Given the description of an element on the screen output the (x, y) to click on. 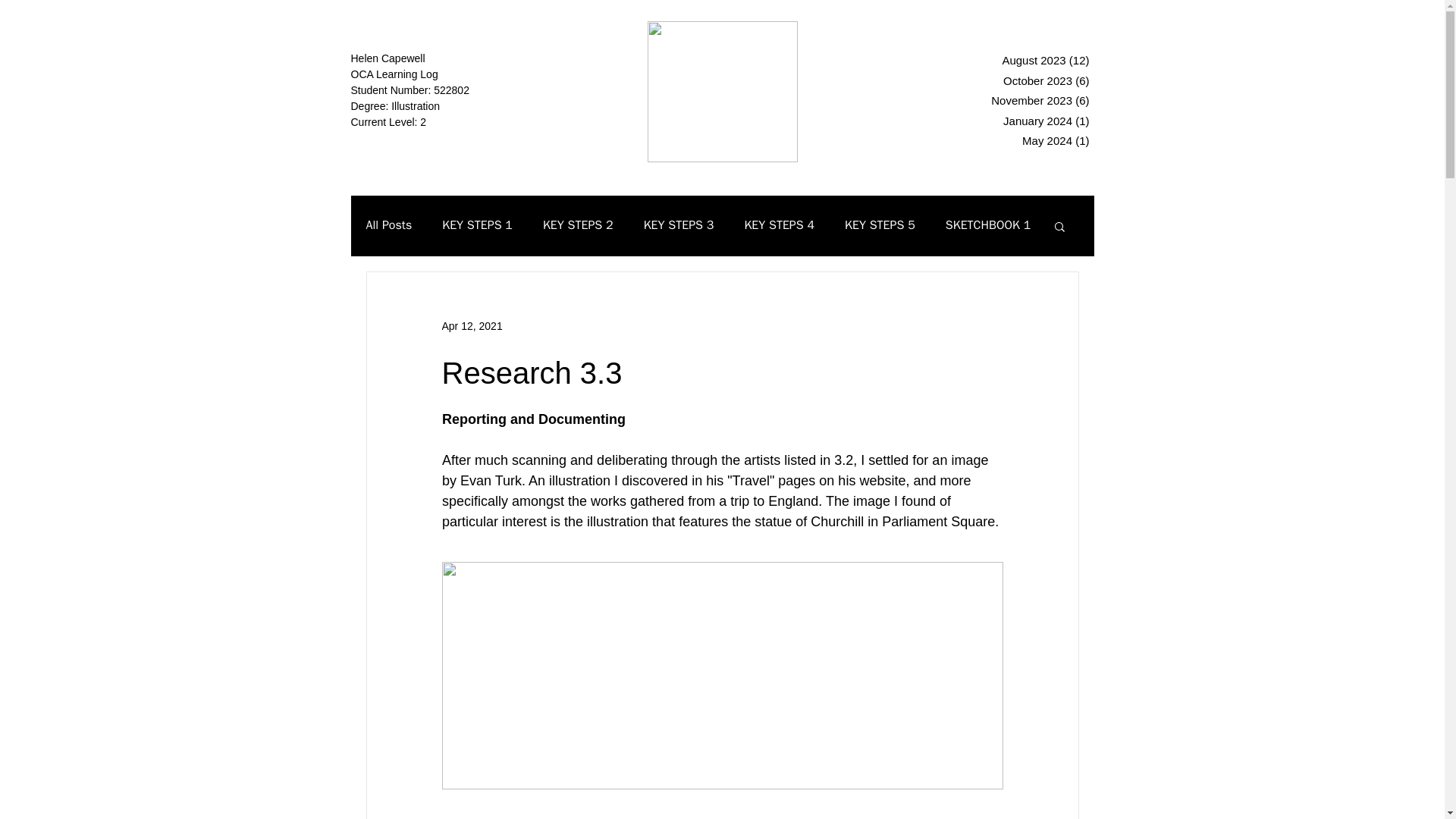
Apr 12, 2021 (471, 326)
SKETCHBOOK 1 (987, 225)
KEY STEPS 3 (678, 225)
All Posts (388, 225)
KEY STEPS 5 (879, 225)
KEY STEPS 2 (577, 225)
KEY STEPS 1 (477, 225)
KEY STEPS 4 (778, 225)
